Given the description of an element on the screen output the (x, y) to click on. 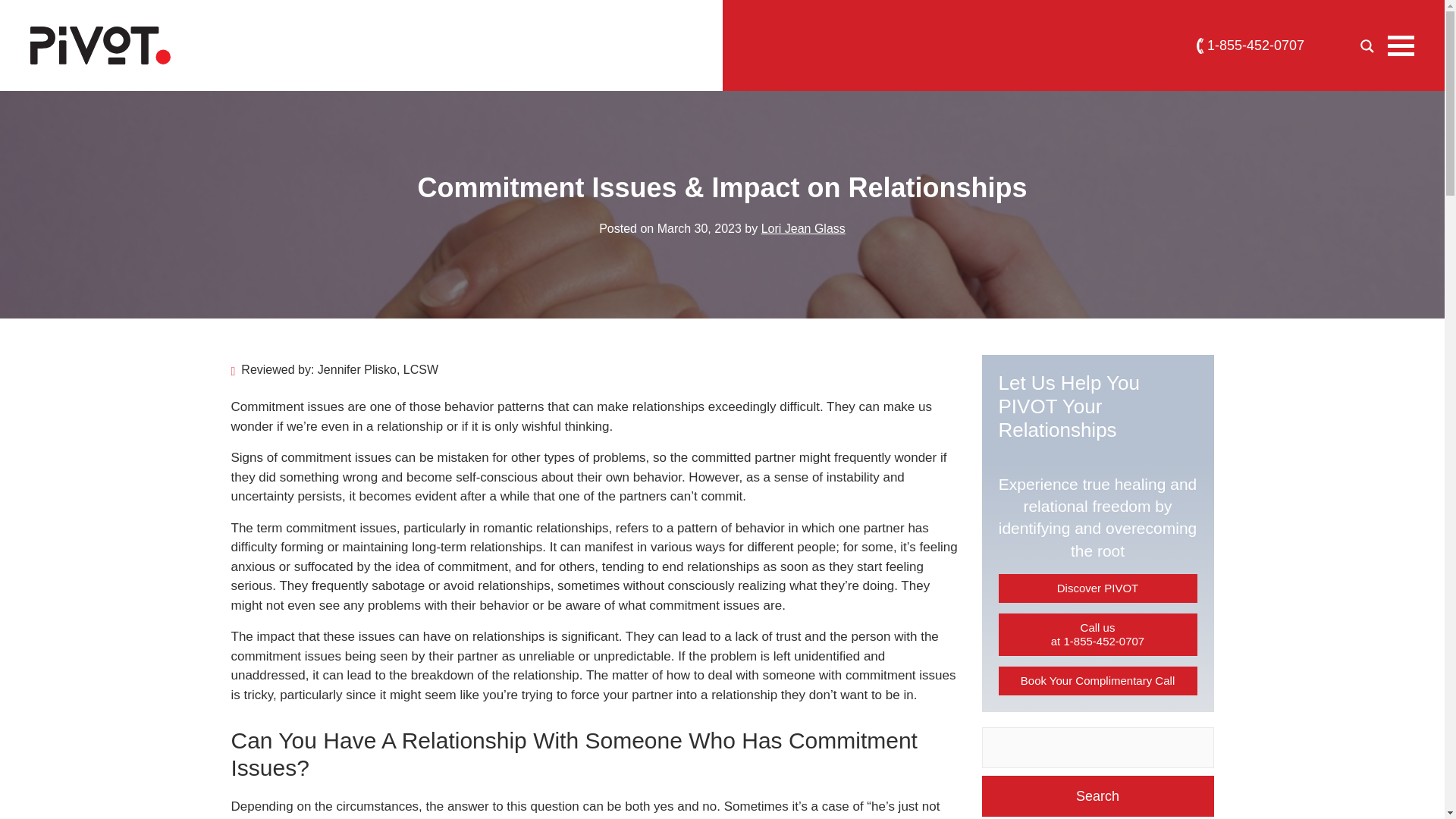
Phone (1250, 45)
Lori Jean Glass (803, 228)
 1-855-452-0707 (1250, 45)
